Given the description of an element on the screen output the (x, y) to click on. 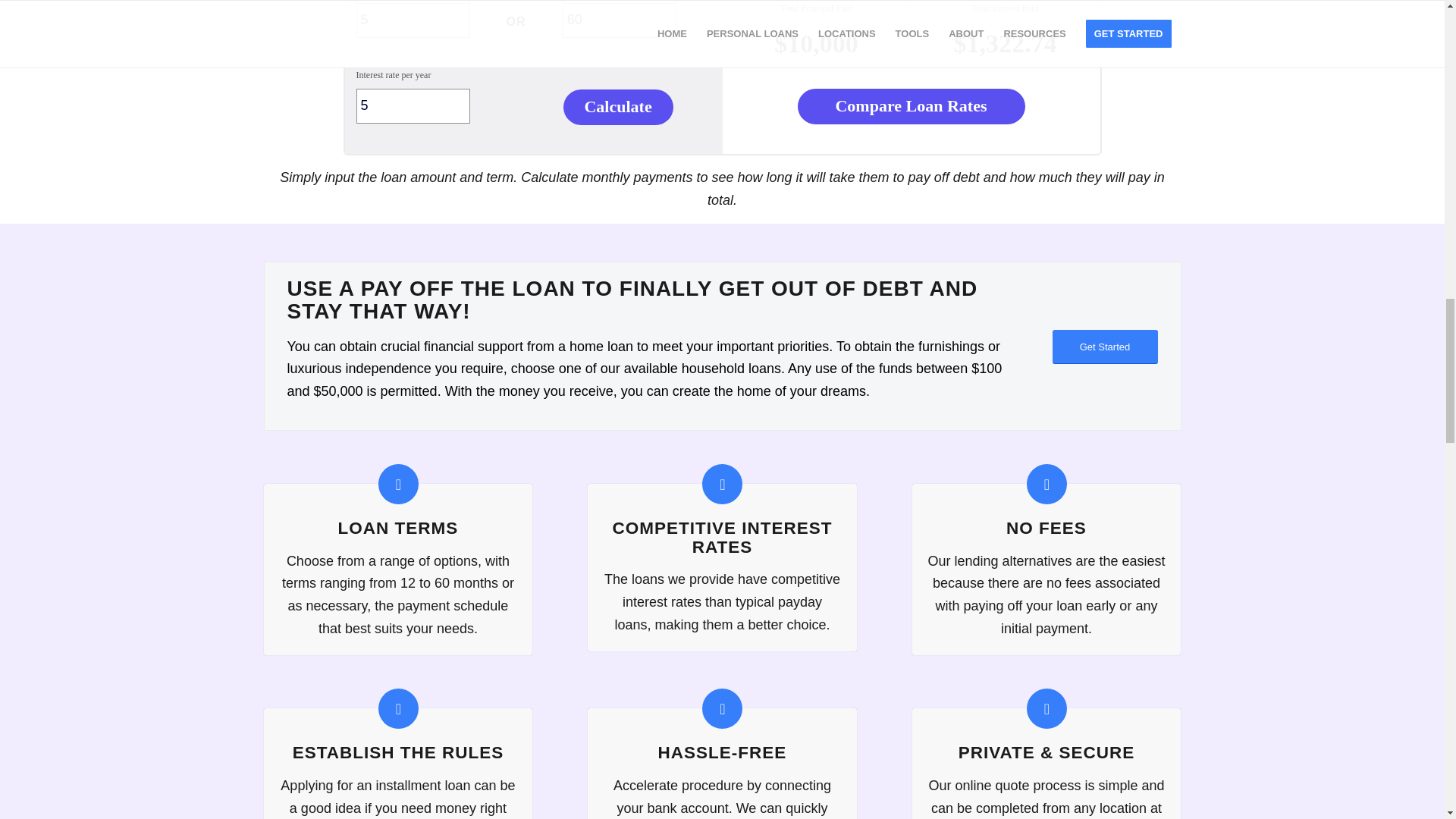
5 (413, 105)
60 (619, 20)
Get Started (1104, 346)
Compare Loan Rates (911, 106)
Calculate (617, 107)
5 (413, 20)
